Given the description of an element on the screen output the (x, y) to click on. 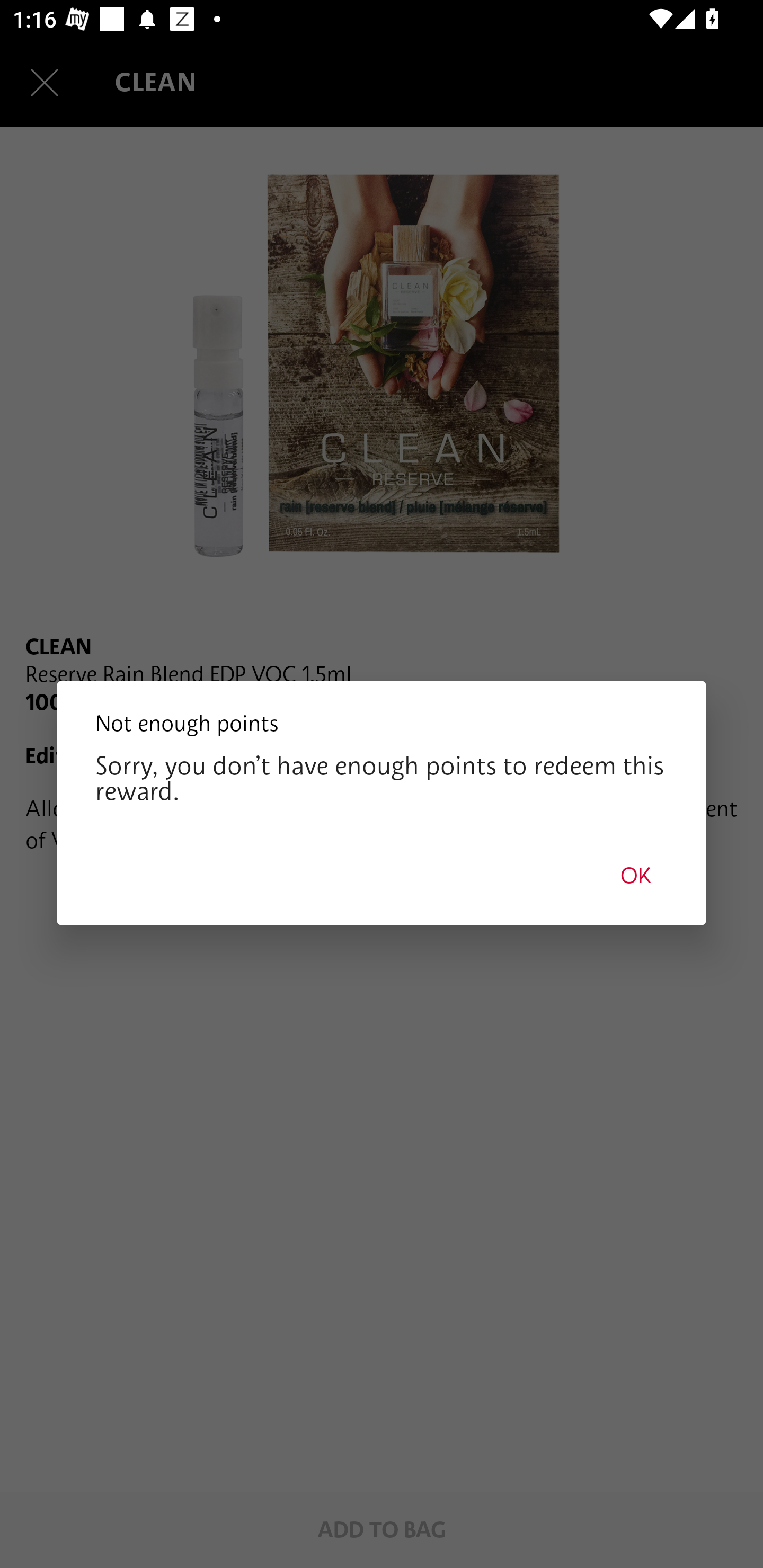
OK (635, 875)
